Given the description of an element on the screen output the (x, y) to click on. 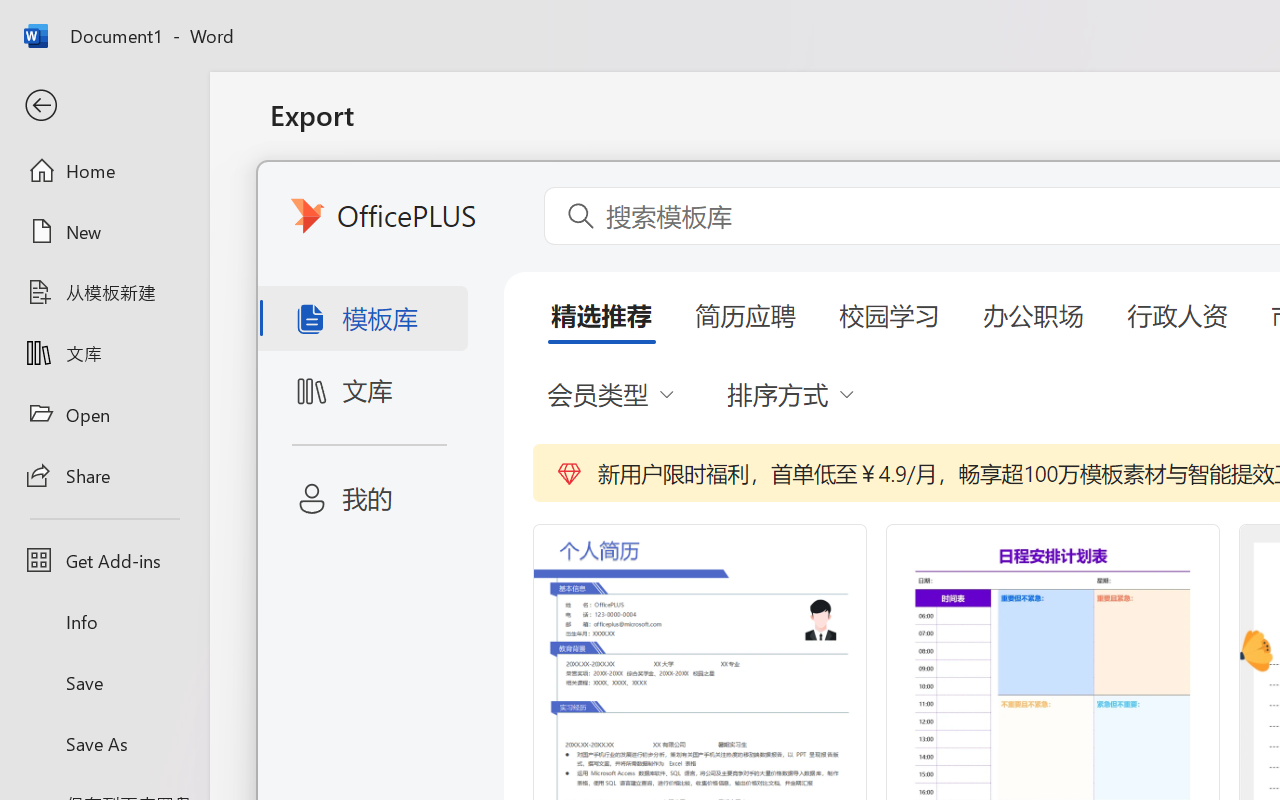
Forward (57, 69)
Search tabs (20, 22)
Back (19, 69)
Close (1238, 21)
Accountability (735, 132)
Sign In - USA TODAY (240, 22)
Our policies (619, 132)
Reload (93, 69)
Create your Google Account (784, 22)
New Tab (376, 22)
Tools & programs (869, 132)
Our approach (506, 132)
Transparency Center (167, 132)
Overview (399, 132)
